Given the description of an element on the screen output the (x, y) to click on. 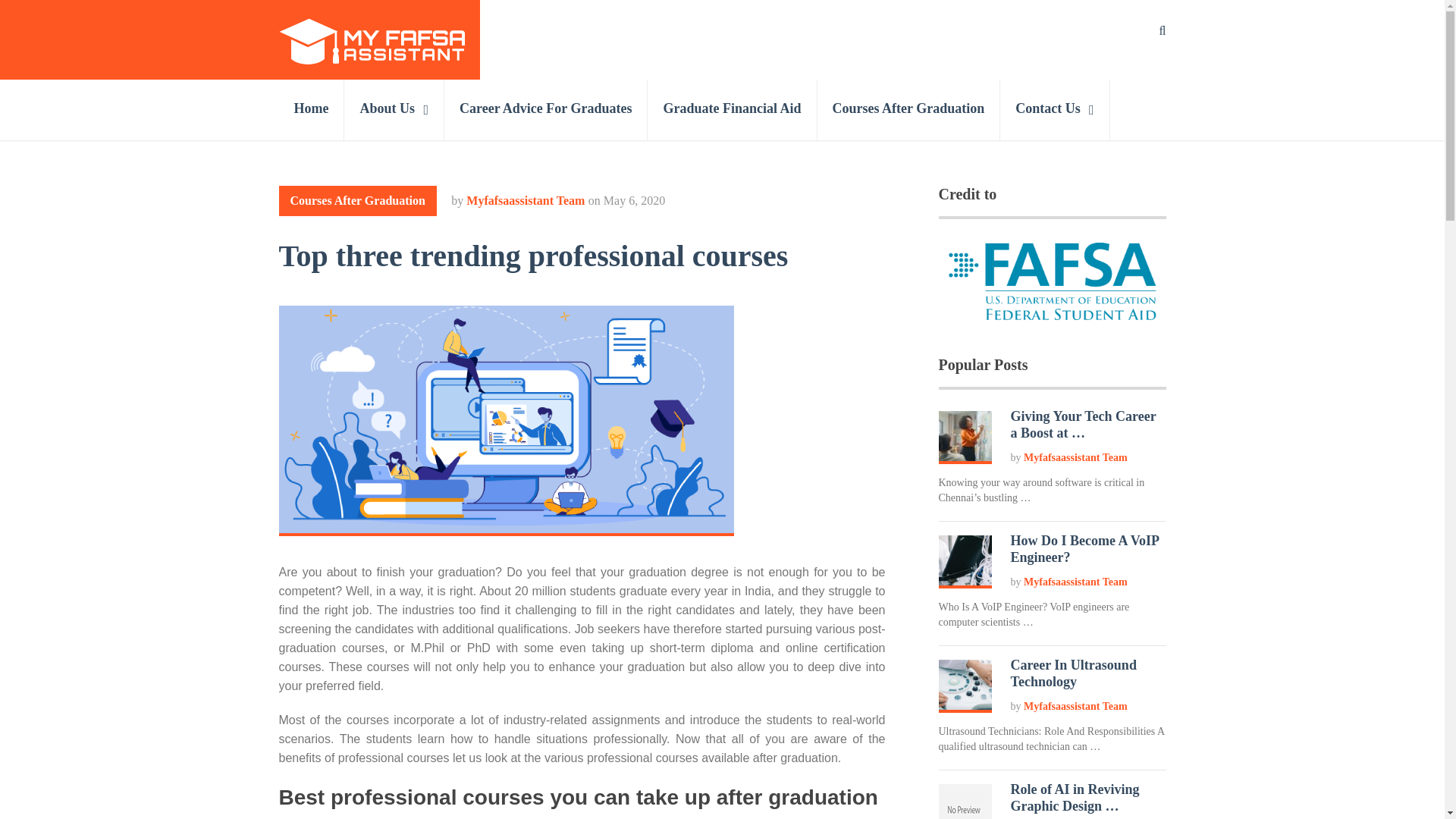
Graduate Financial Aid (731, 109)
Courses After Graduation (908, 109)
Posts by Myfafsaassistant Team (525, 200)
Courses After Graduation (357, 200)
Home (312, 109)
View all posts in Courses After Graduation (357, 200)
About Us (393, 109)
Myfafsaassistant Team (525, 200)
Posts by Myfafsaassistant Team (1074, 457)
Myfafsaassistant Team (1074, 457)
Contact Us (1054, 109)
Career Advice For Graduates (545, 109)
